Given the description of an element on the screen output the (x, y) to click on. 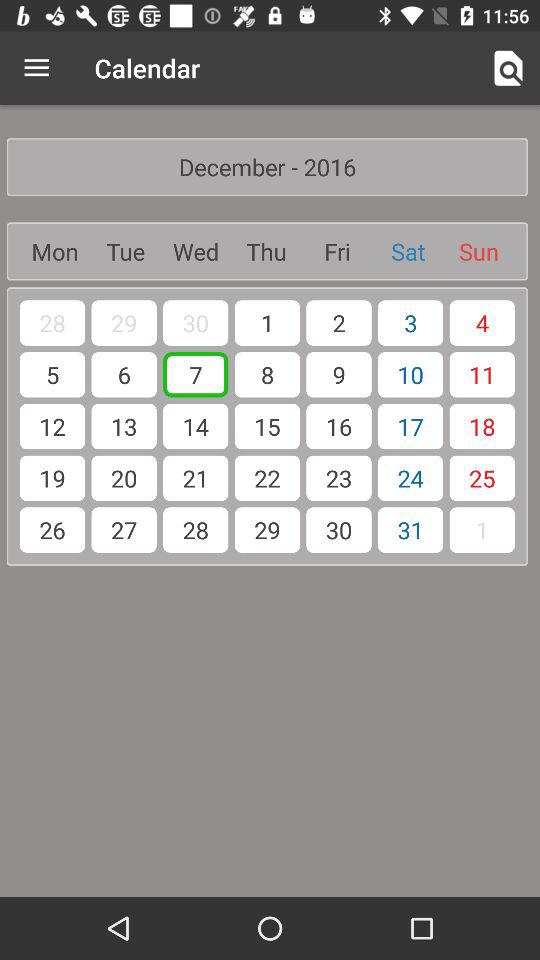
choose the item to the left of the calendar (36, 68)
